Given the description of an element on the screen output the (x, y) to click on. 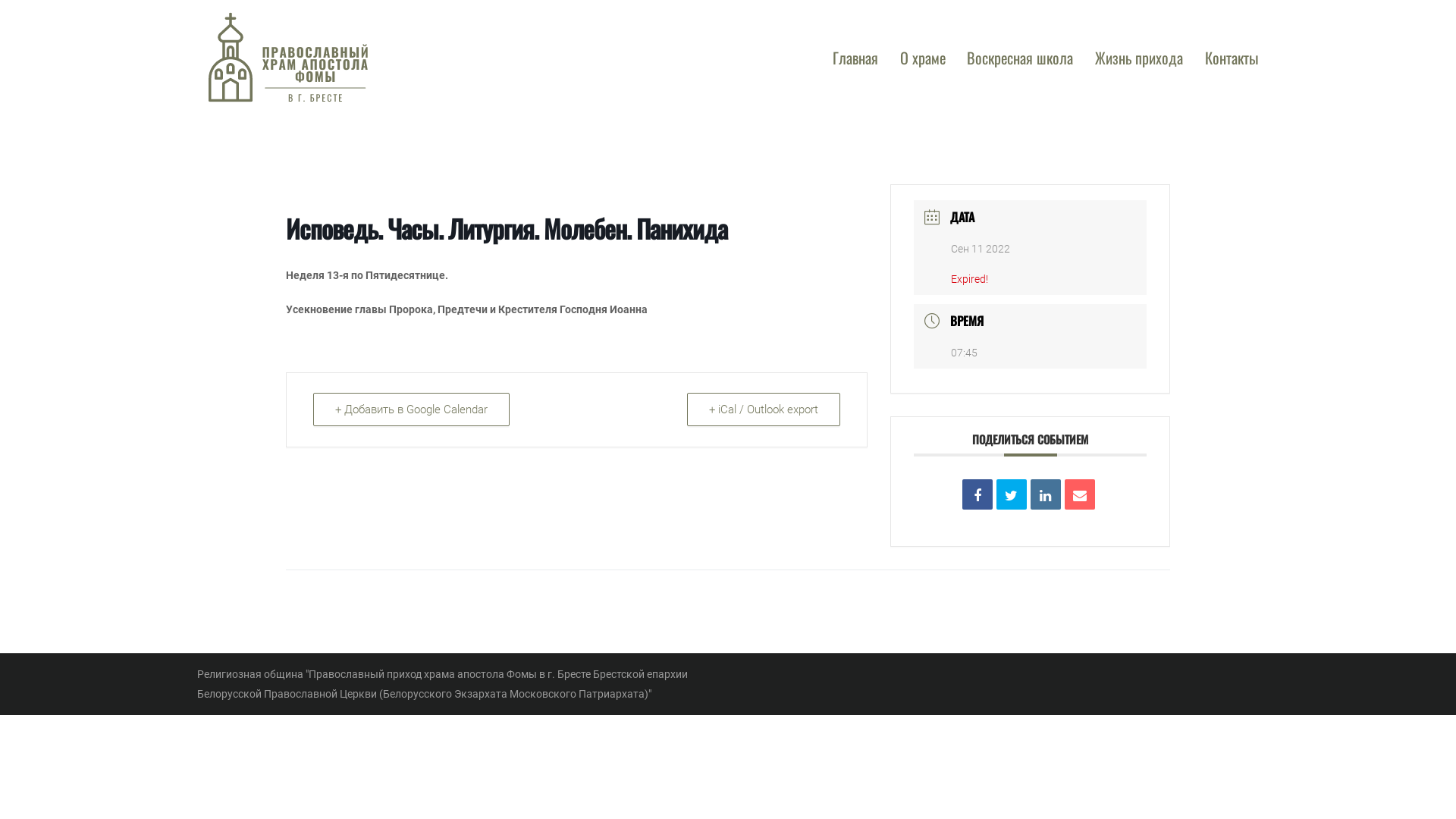
Facebook Element type: hover (977, 494)
+ iCal / Outlook export Element type: text (763, 409)
Tweet Element type: hover (1011, 494)
Linkedin Element type: hover (1045, 494)
